Given the description of an element on the screen output the (x, y) to click on. 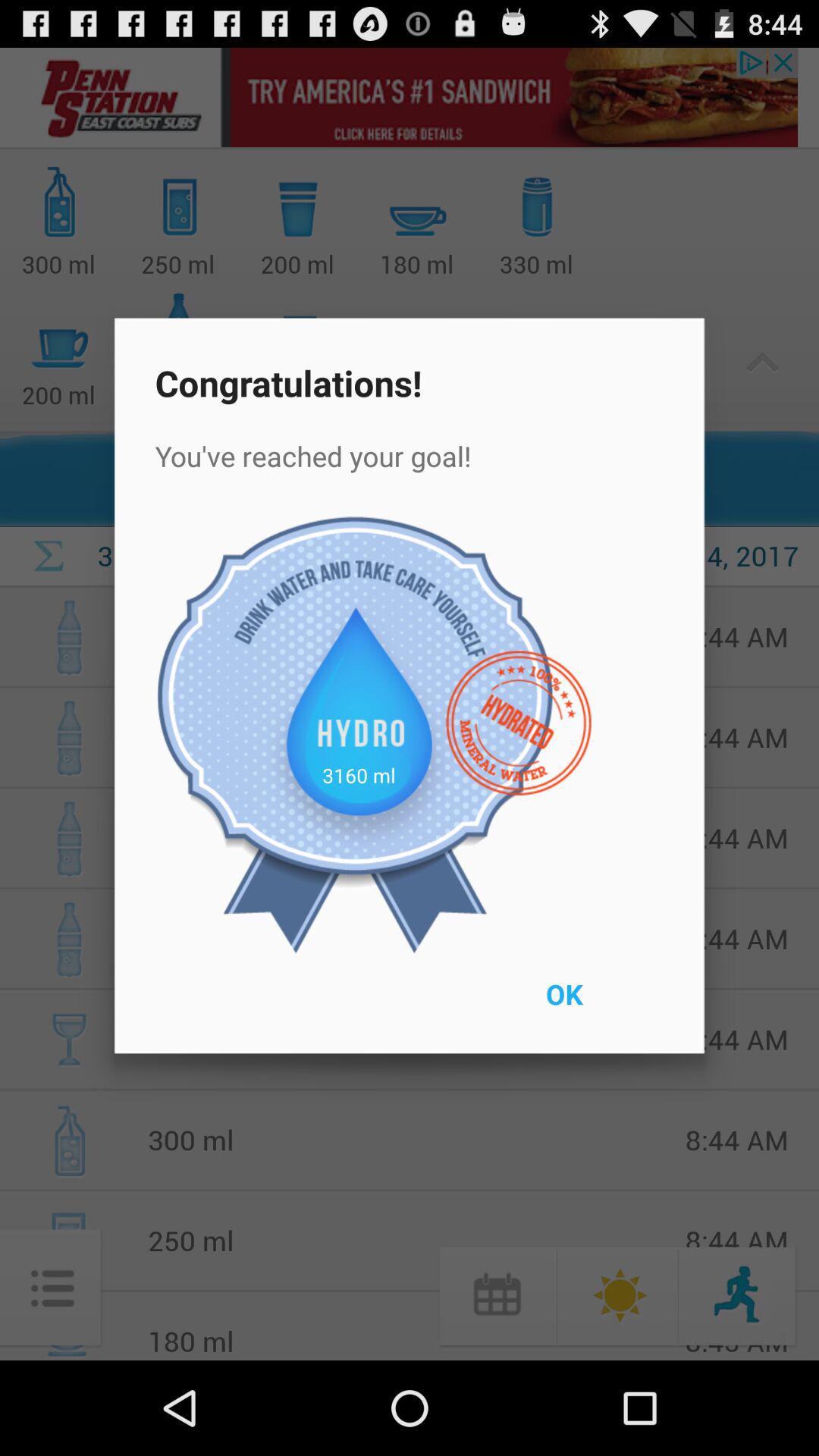
click ok item (599, 1003)
